Given the description of an element on the screen output the (x, y) to click on. 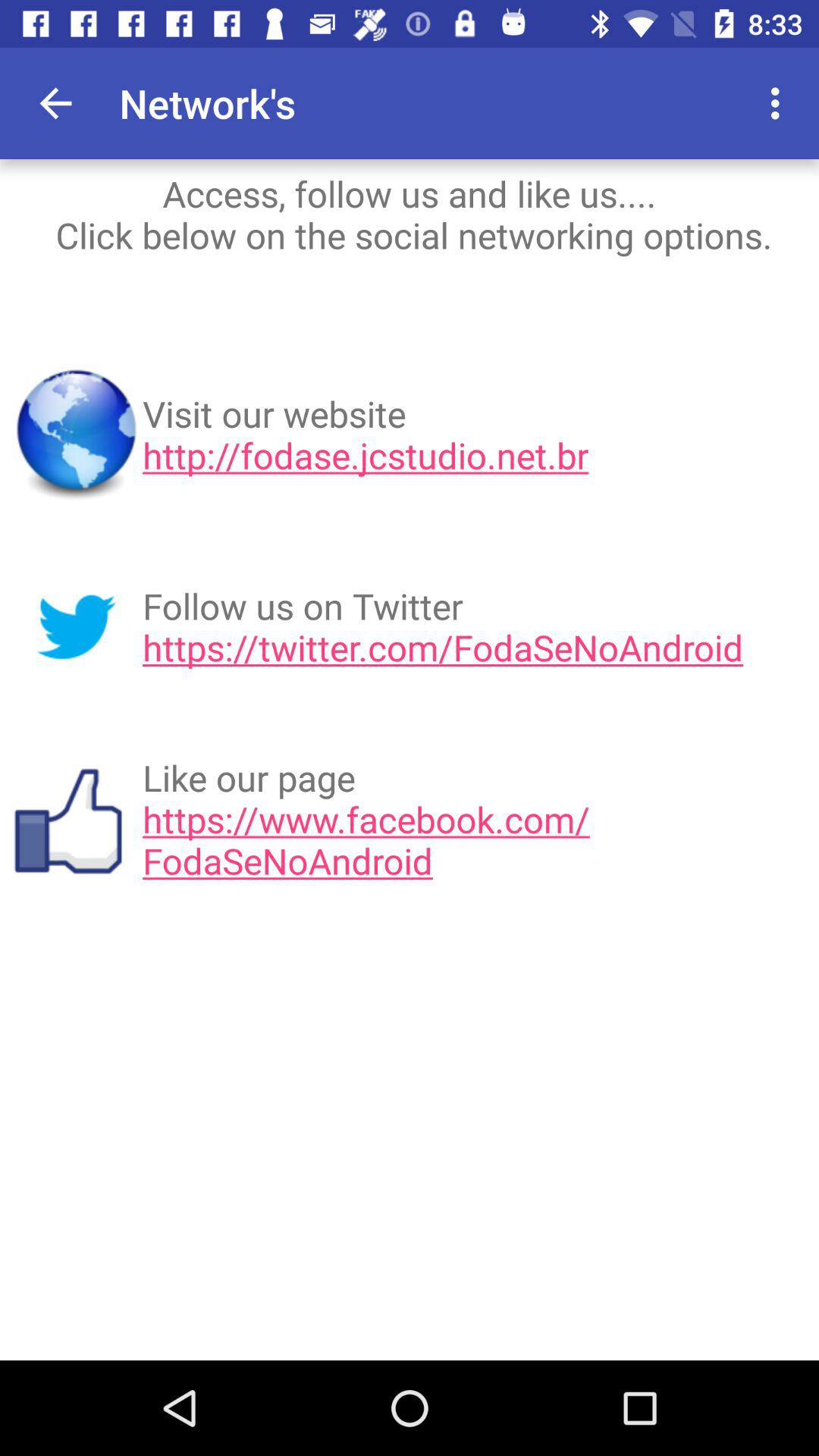
open the icon next to network's app (691, 103)
